Given the description of an element on the screen output the (x, y) to click on. 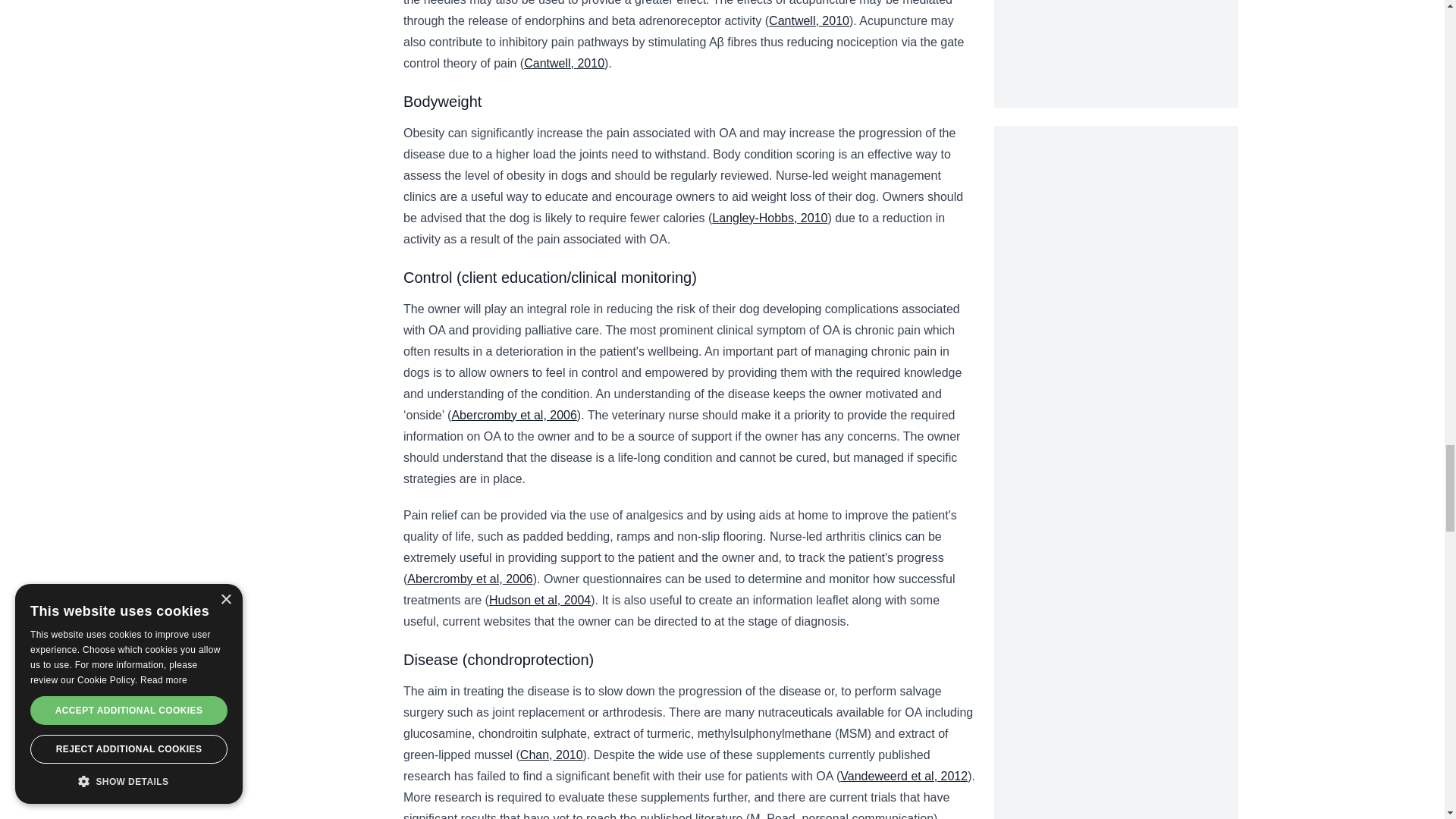
3rd party ad content (1116, 220)
